Given the description of an element on the screen output the (x, y) to click on. 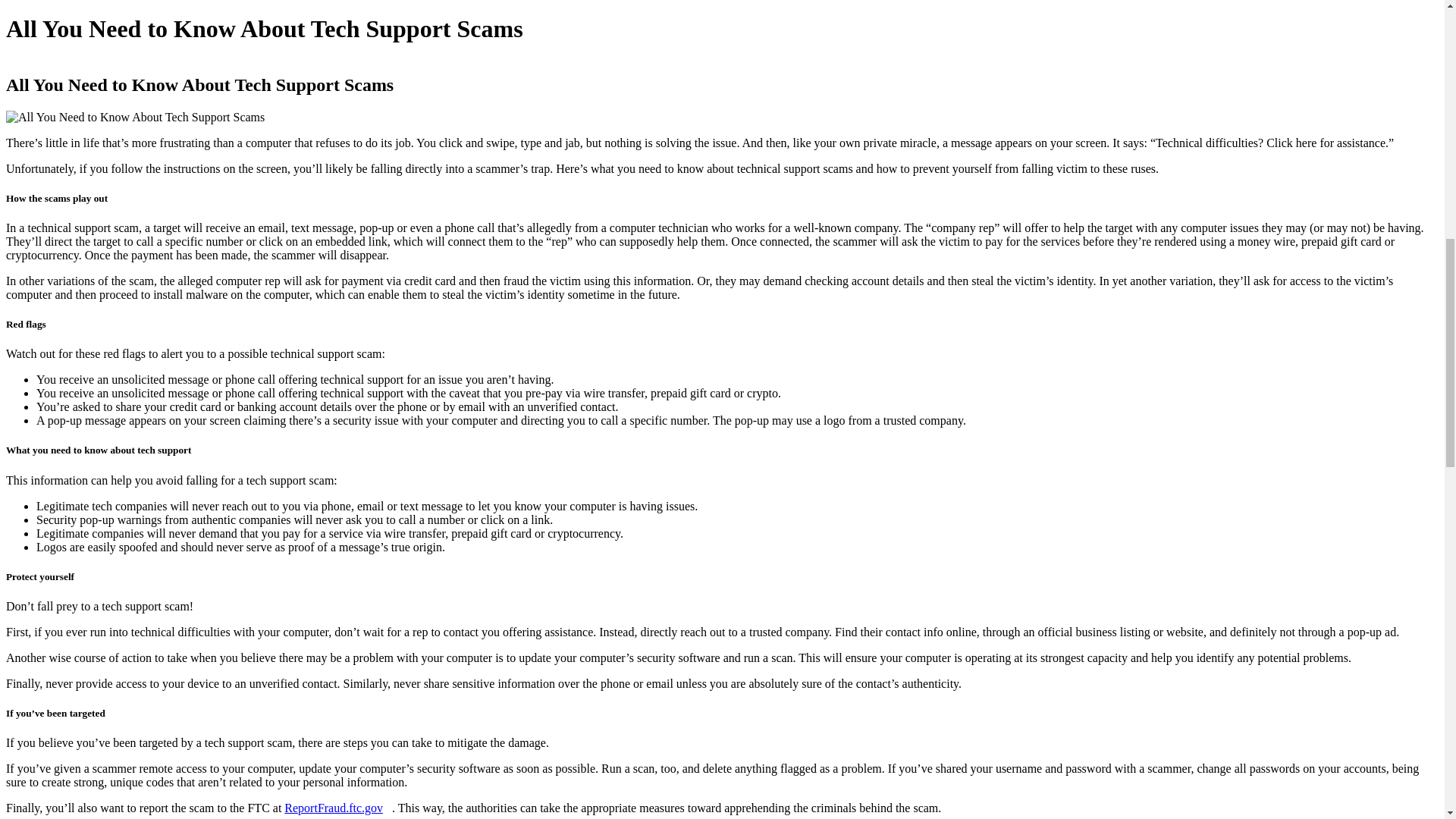
All You Need to Know About Tech Support Scams (134, 117)
